Given the description of an element on the screen output the (x, y) to click on. 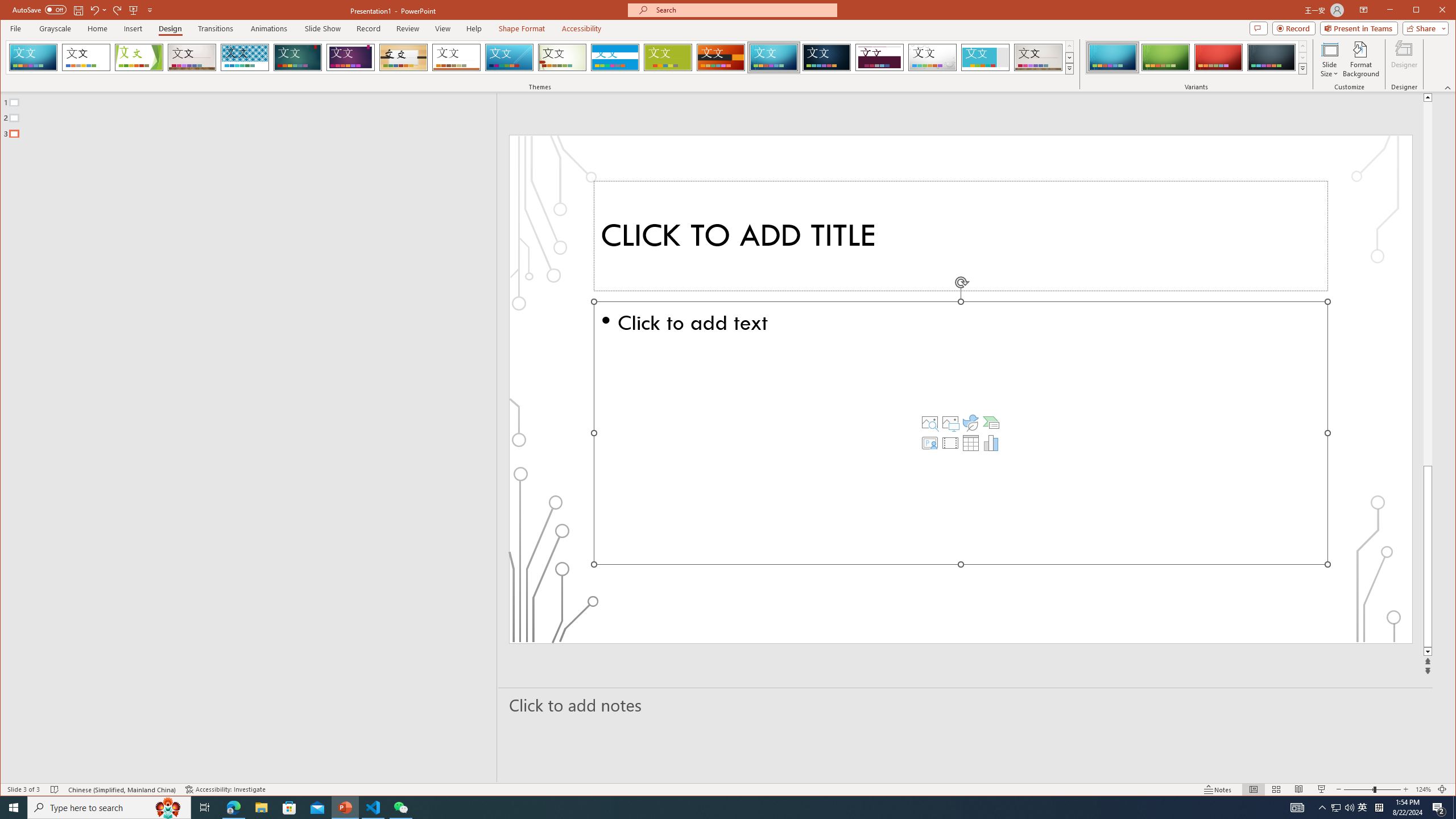
Circuit Variant 2 (1165, 57)
Circuit Variant 3 (1218, 57)
Insert Chart (991, 443)
Basis (668, 57)
Insert Table (970, 443)
